Given the description of an element on the screen output the (x, y) to click on. 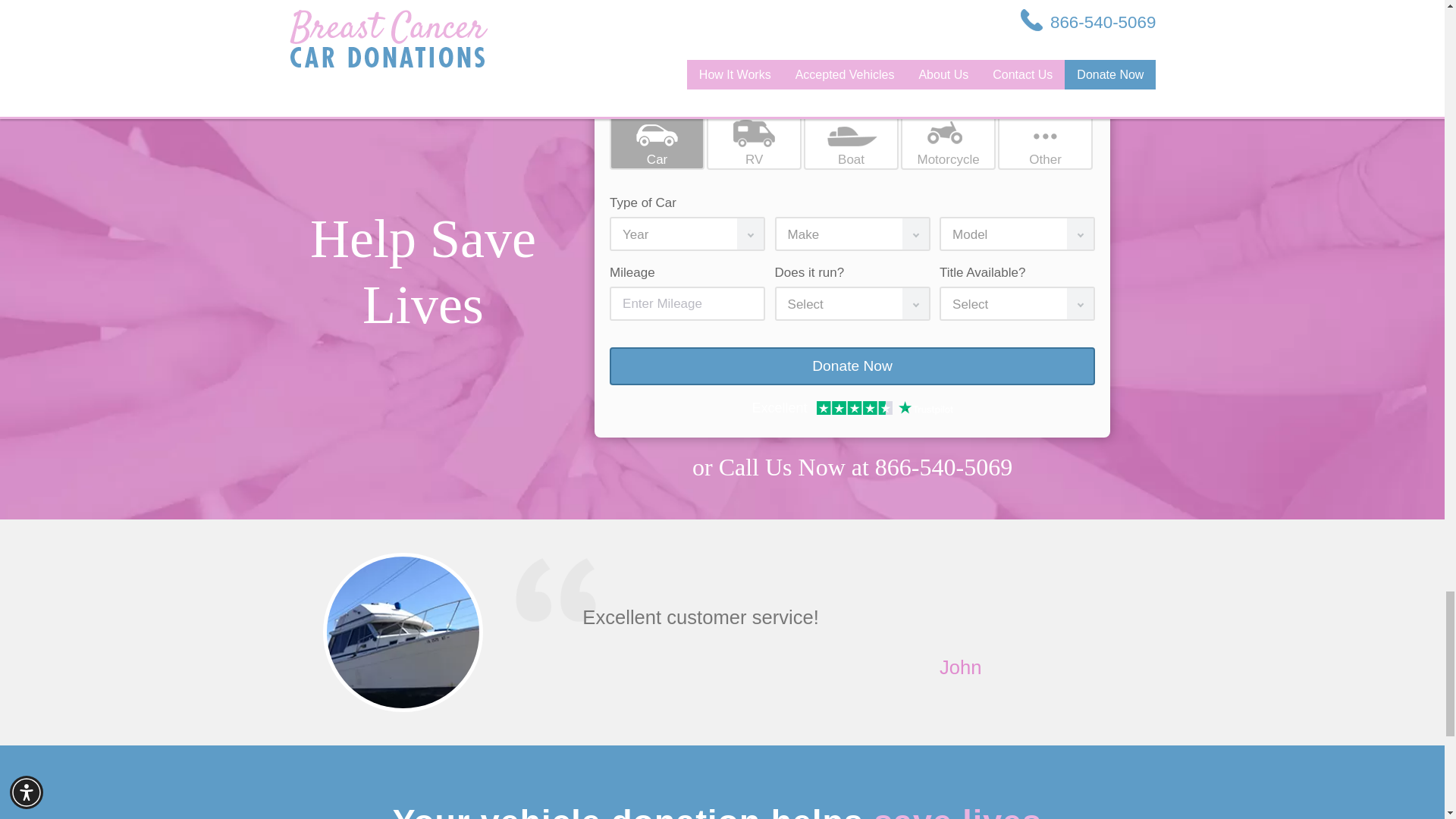
Customer reviews powered by Trustpilot (852, 409)
